Given the description of an element on the screen output the (x, y) to click on. 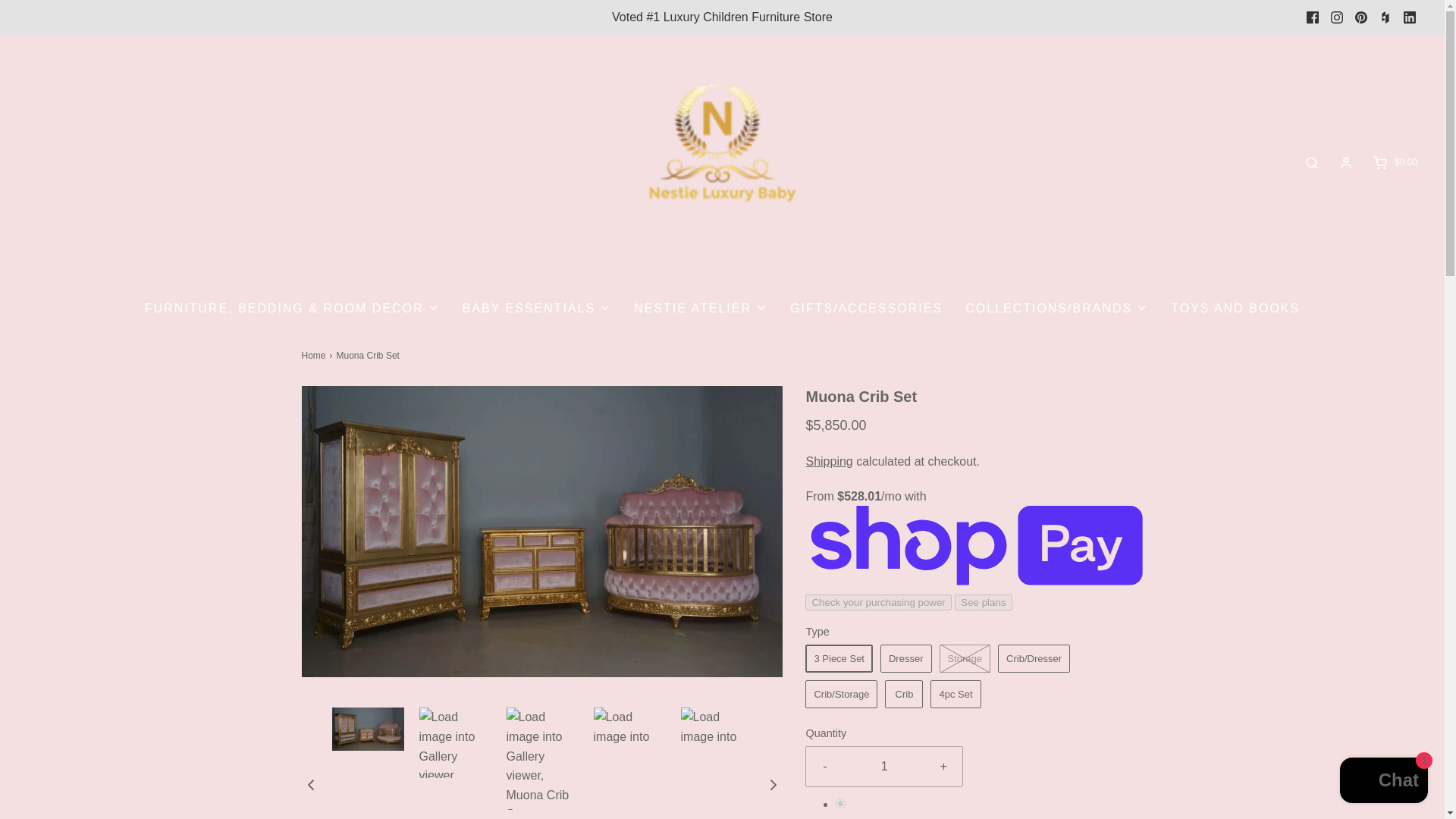
Log in (1345, 162)
Pinterest icon (1361, 17)
NESTIE ATELIER (700, 308)
0 (840, 803)
Facebook icon (1312, 16)
LinkedIn icon (1409, 16)
Shopify online store chat (1383, 781)
Instagram icon (1336, 17)
Instagram icon (1336, 16)
Houzz icon (1384, 17)
Pinterest icon (1361, 16)
Houzz icon (1385, 16)
BABY ESSENTIALS (537, 308)
Back to the frontpage (315, 355)
Cart (1394, 162)
